Given the description of an element on the screen output the (x, y) to click on. 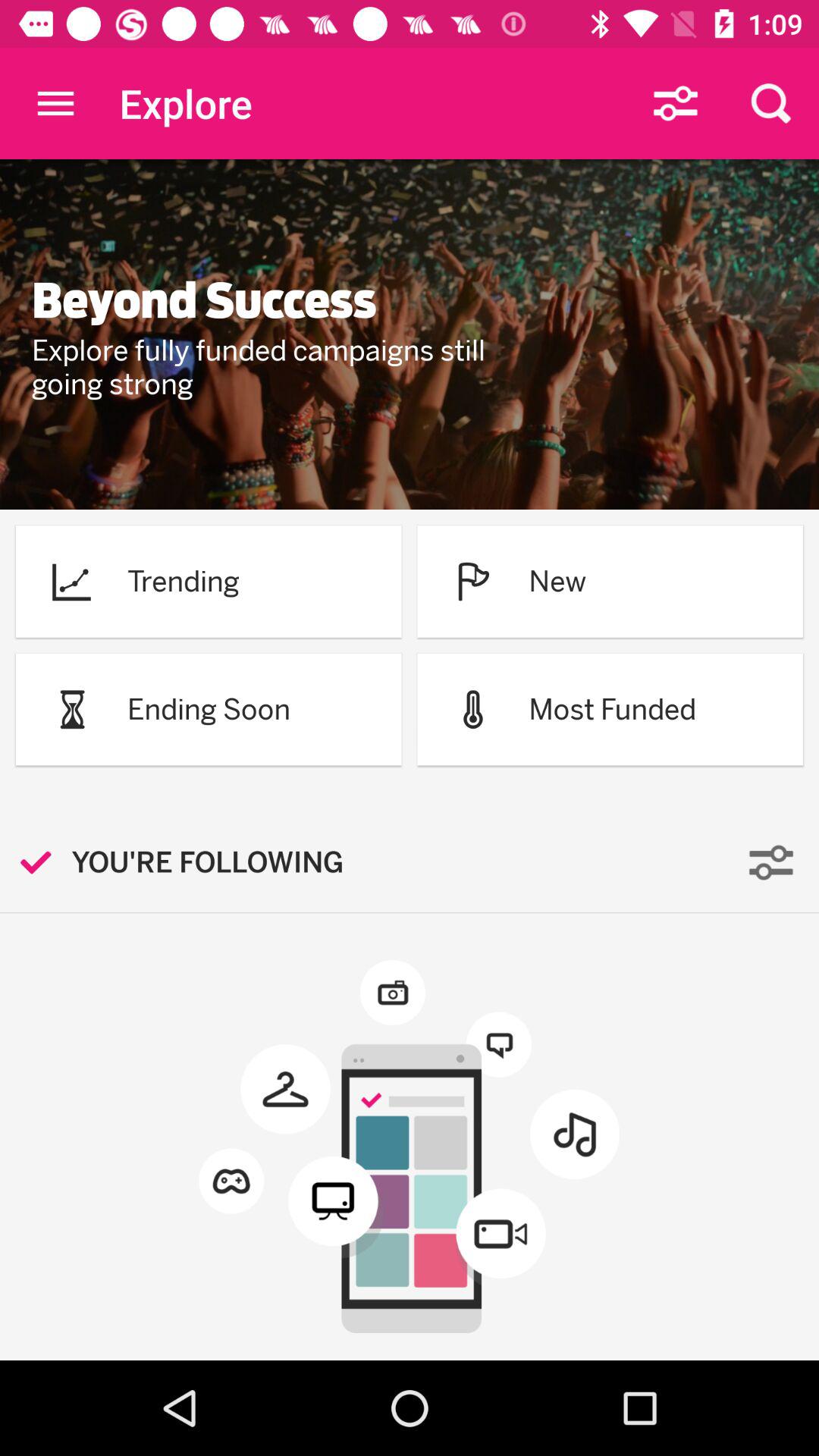
select icon next to you're following (43, 862)
